Given the description of an element on the screen output the (x, y) to click on. 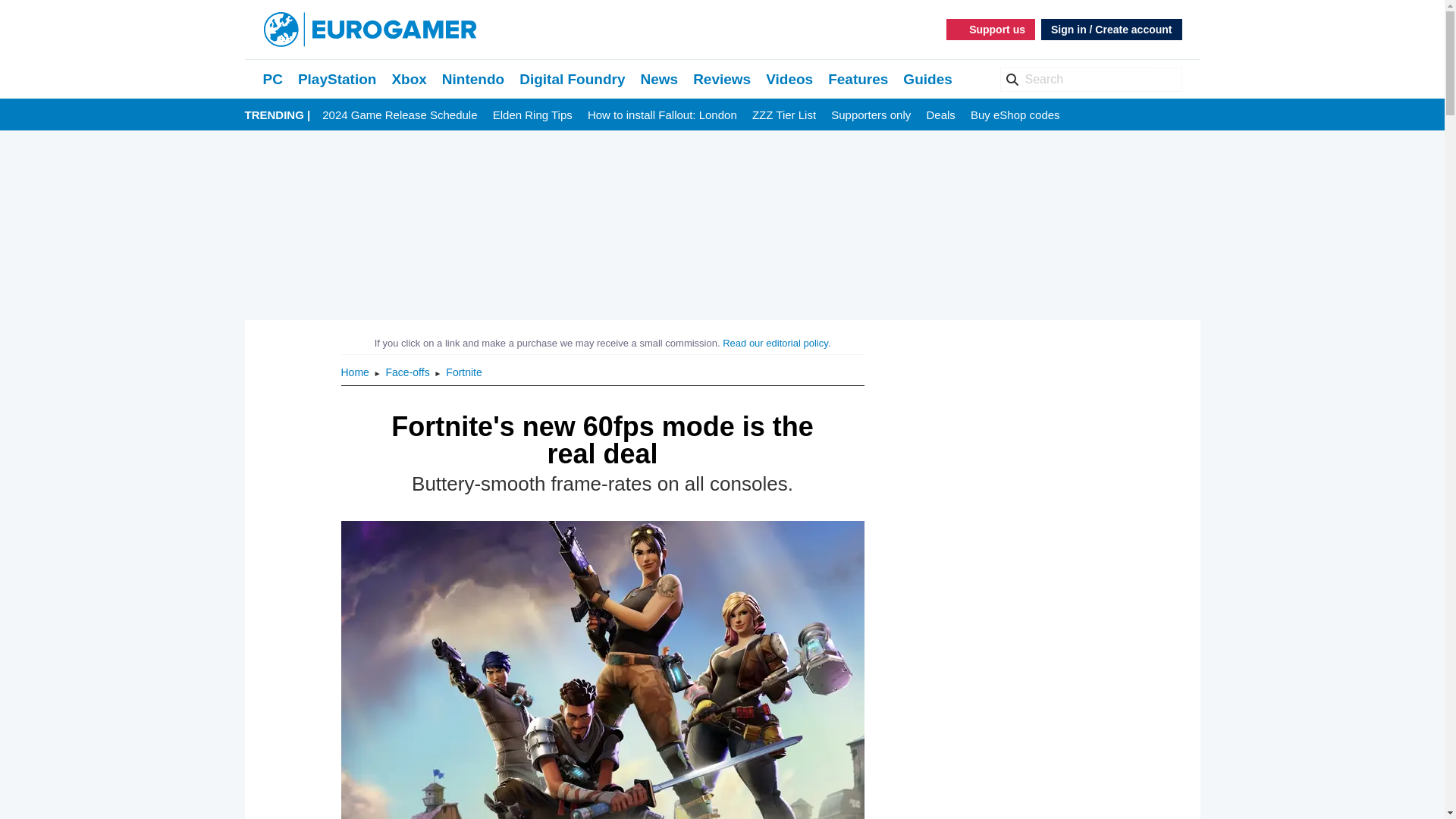
Face-offs (408, 372)
Videos (788, 78)
Elden Ring Tips (532, 114)
ZZZ Tier List (783, 114)
Guides (927, 78)
Reviews (722, 78)
Guides (927, 78)
Elden Ring Tips (532, 114)
Supporters only (871, 114)
Deals (940, 114)
How to install Fallout: London (662, 114)
Support us (990, 29)
How to install Fallout: London (662, 114)
Digital Foundry (571, 78)
2024 Game Release Schedule (399, 114)
